Given the description of an element on the screen output the (x, y) to click on. 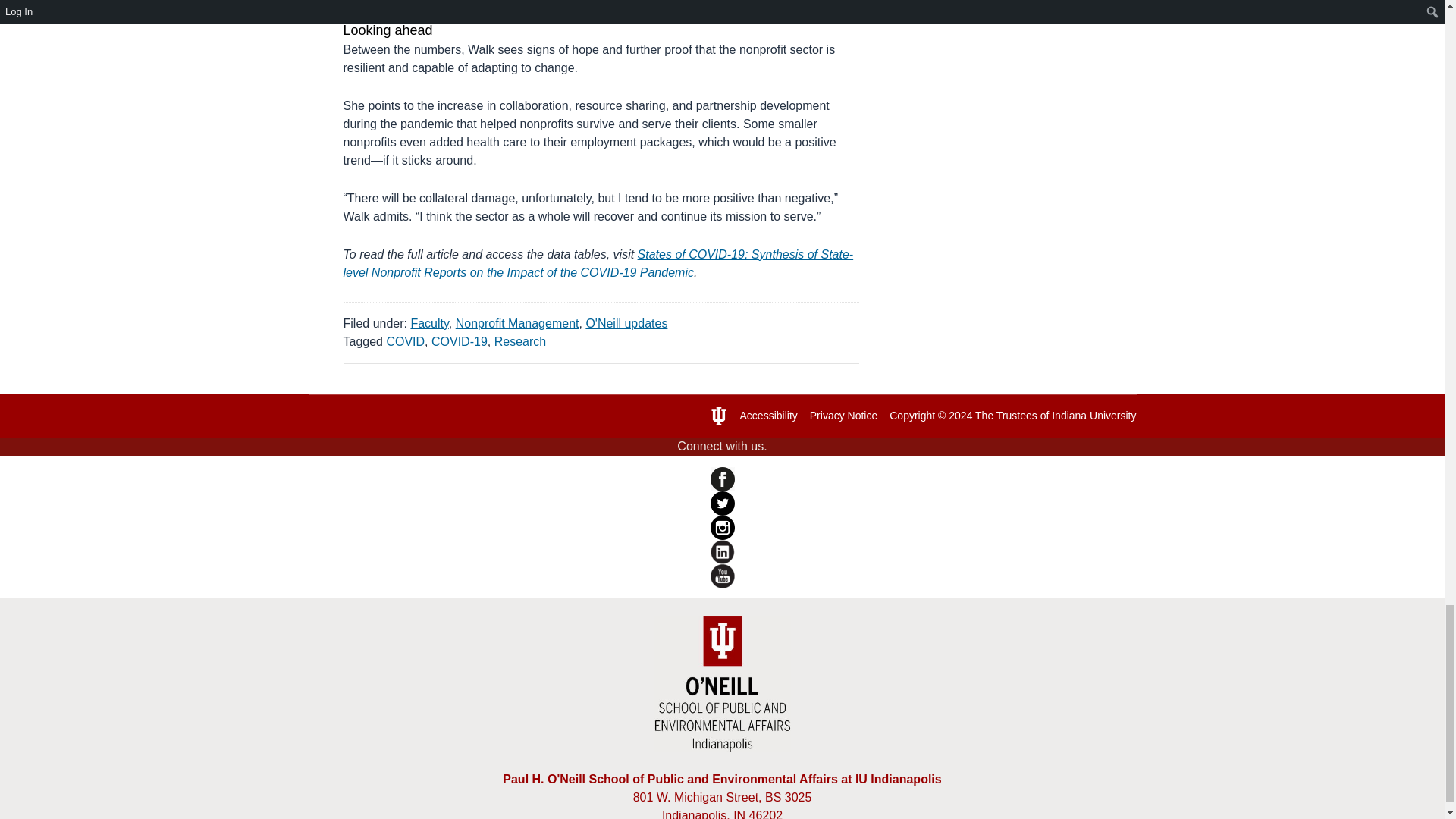
Copyright (911, 415)
O'Neill updates (625, 323)
Privacy Notice (843, 415)
Research (520, 341)
Faculty (429, 323)
Accessibility (768, 415)
Indiana University (1093, 415)
COVID (405, 341)
Nonprofit Management (517, 323)
COVID-19 (458, 341)
